Given the description of an element on the screen output the (x, y) to click on. 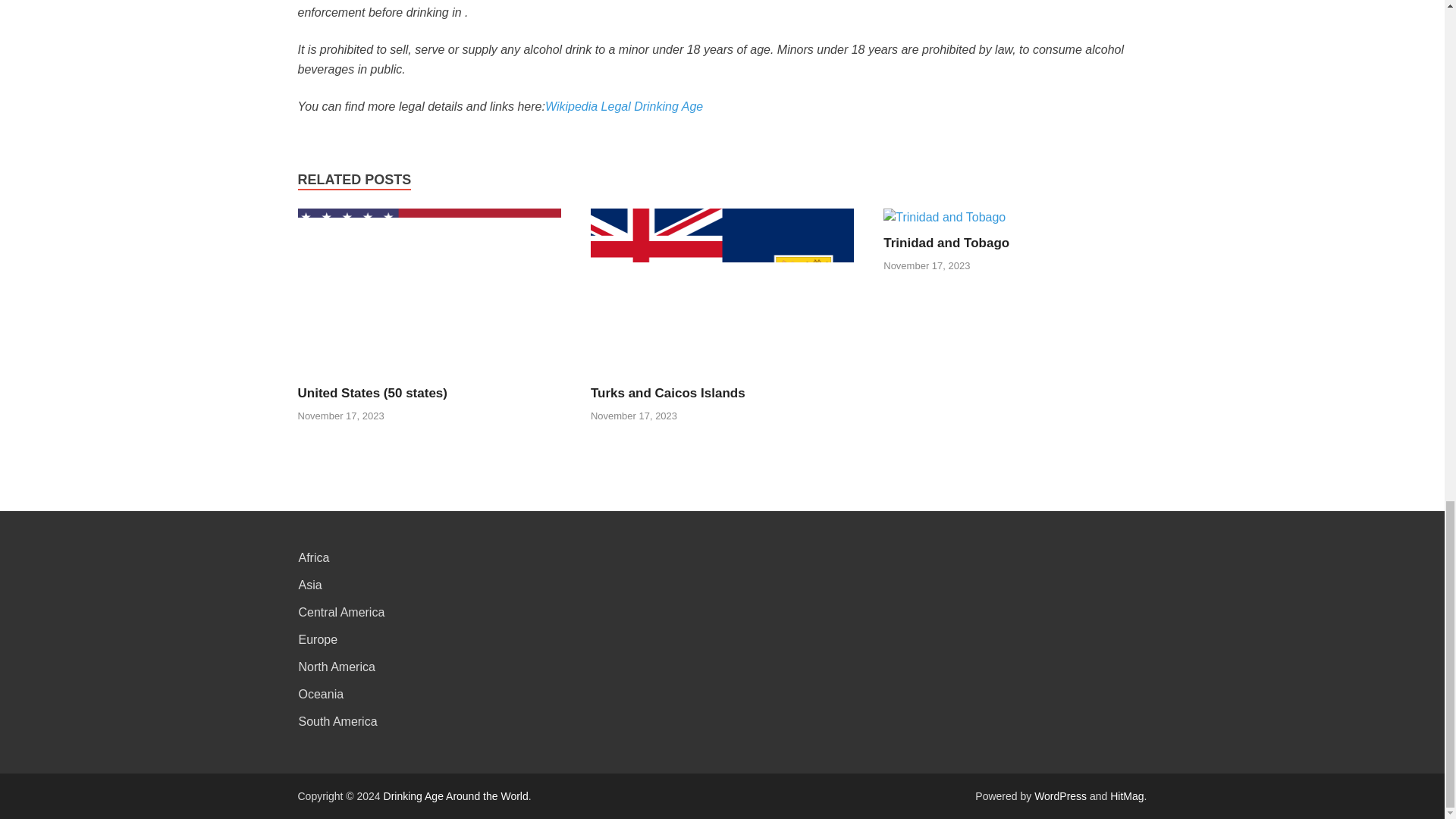
Europe (317, 639)
South America (337, 721)
HitMag WordPress Theme (1125, 796)
Turks and Caicos Islands (722, 375)
Turks and Caicos Islands (668, 392)
Trinidad and Tobago (946, 242)
Central America (341, 612)
Wikipedia Legal Drinking Age (623, 106)
Trinidad and Tobago (944, 216)
HitMag (1125, 796)
WordPress (1059, 796)
Trinidad and Tobago (946, 242)
North America (336, 666)
Africa (314, 557)
Oceania (320, 694)
